Given the description of an element on the screen output the (x, y) to click on. 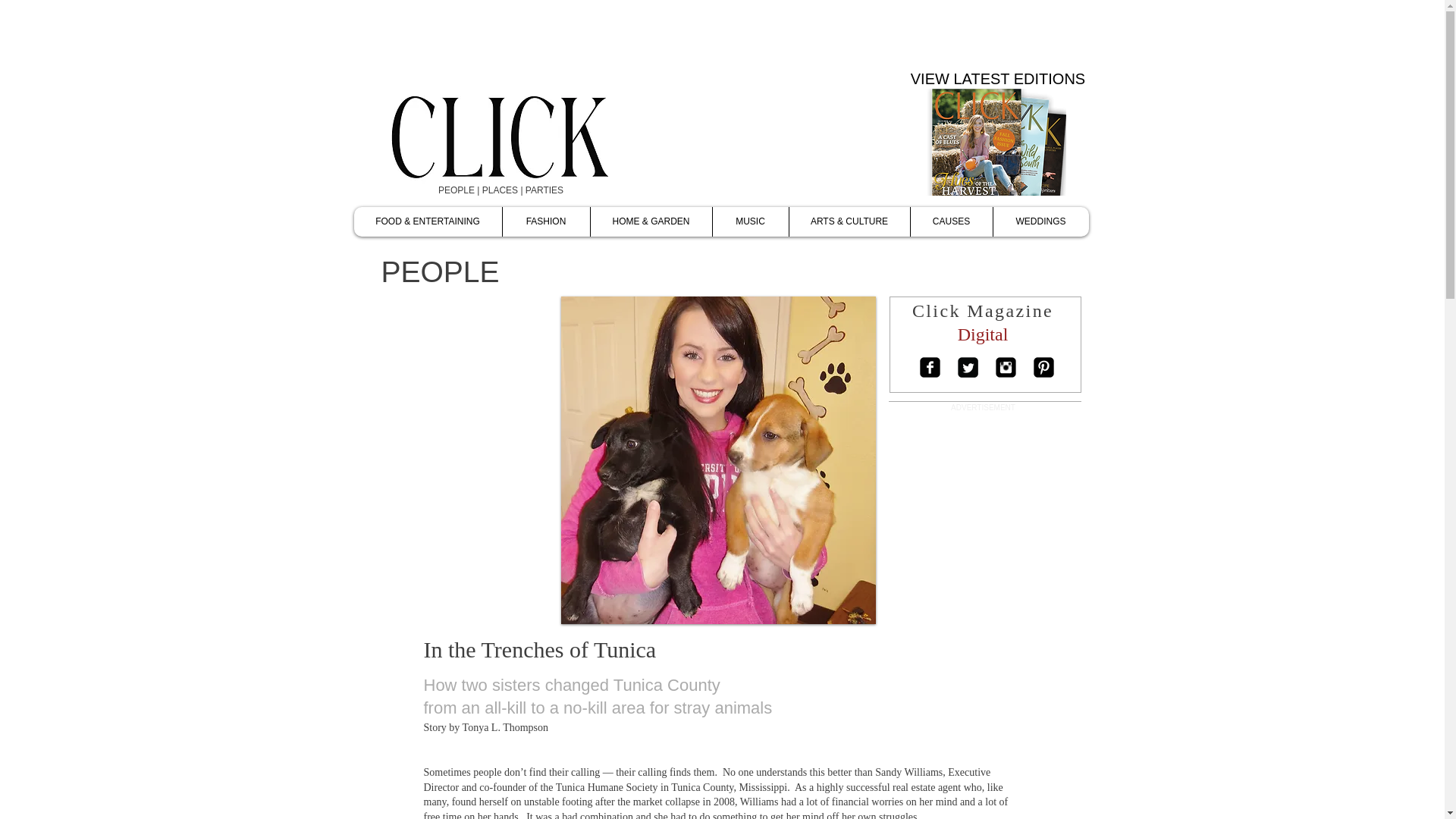
MUSIC (749, 221)
VIEW LATEST EDITIONS (998, 78)
CAUSES (951, 221)
clickweblogo.jpg (536, 136)
WEDDINGS (1039, 221)
FASHION (545, 221)
